Given the description of an element on the screen output the (x, y) to click on. 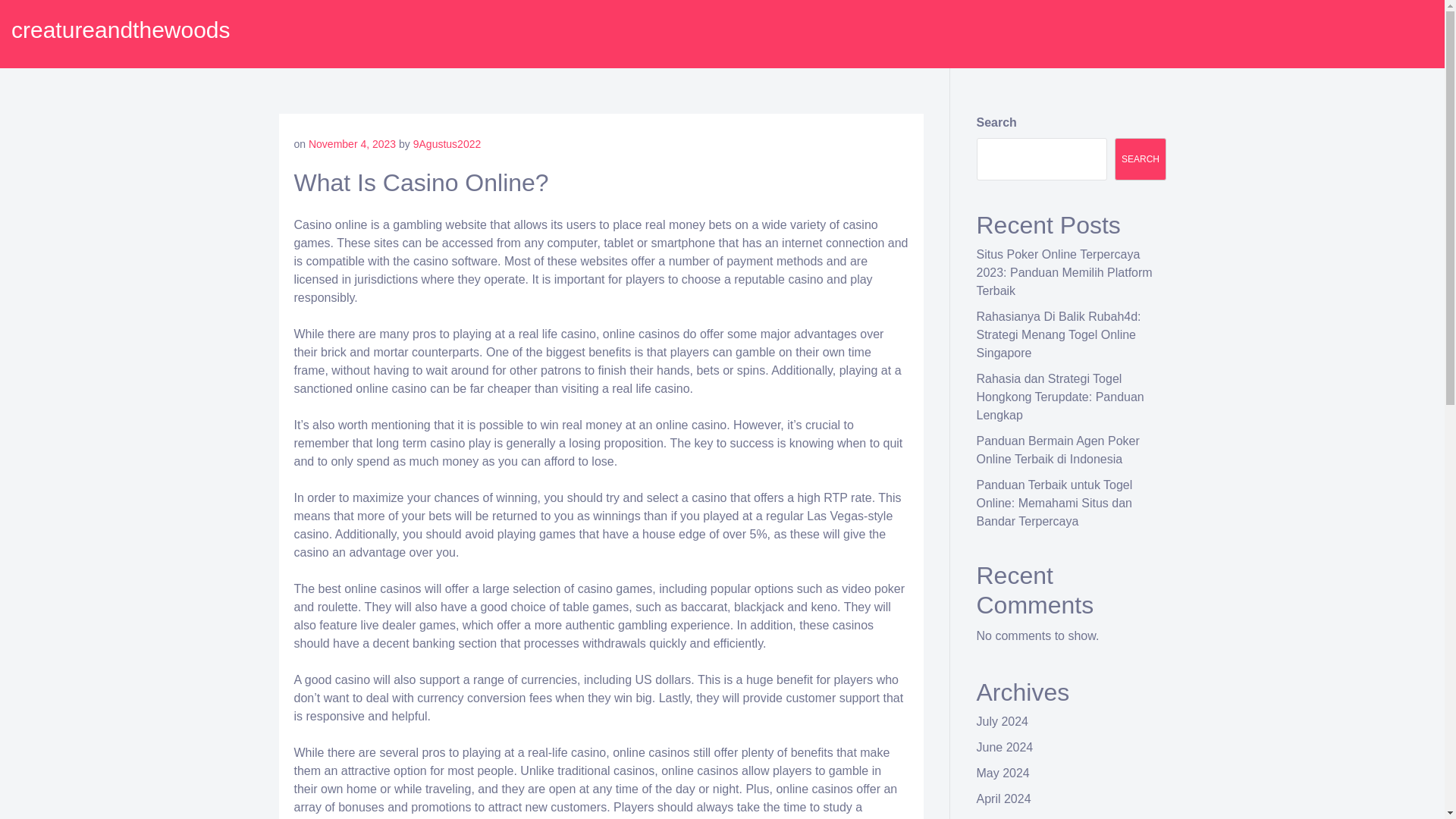
Panduan Bermain Agen Poker Online Terbaik di Indonesia (1058, 450)
9Agustus2022 (447, 143)
creatureandthewoods (120, 29)
June 2024 (1004, 747)
May 2024 (1002, 772)
March 2024 (1008, 818)
April 2024 (1003, 798)
SEARCH (1140, 159)
July 2024 (1002, 721)
November 4, 2023 (352, 143)
